Given the description of an element on the screen output the (x, y) to click on. 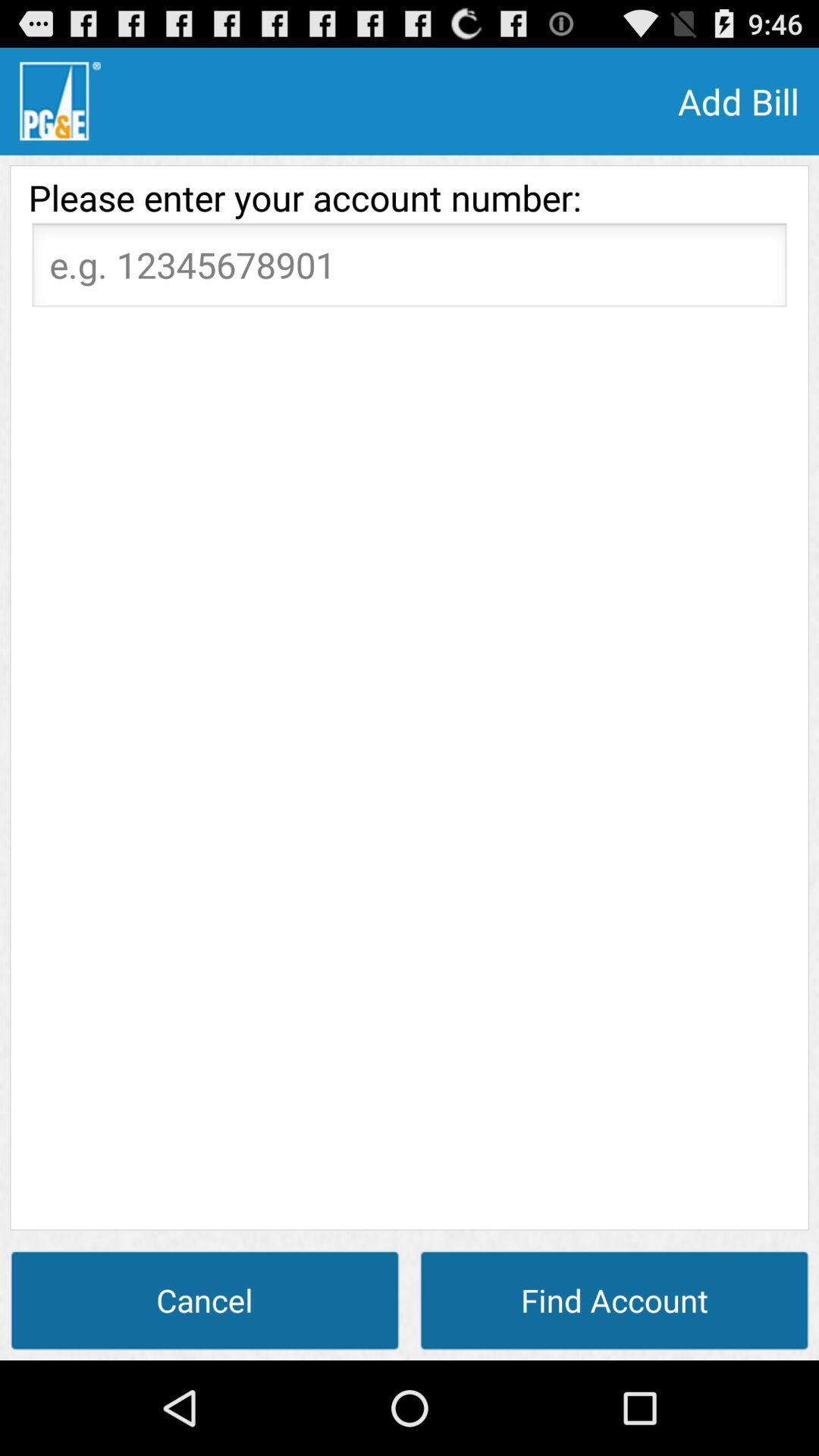
select the icon next to the find account icon (204, 1300)
